Given the description of an element on the screen output the (x, y) to click on. 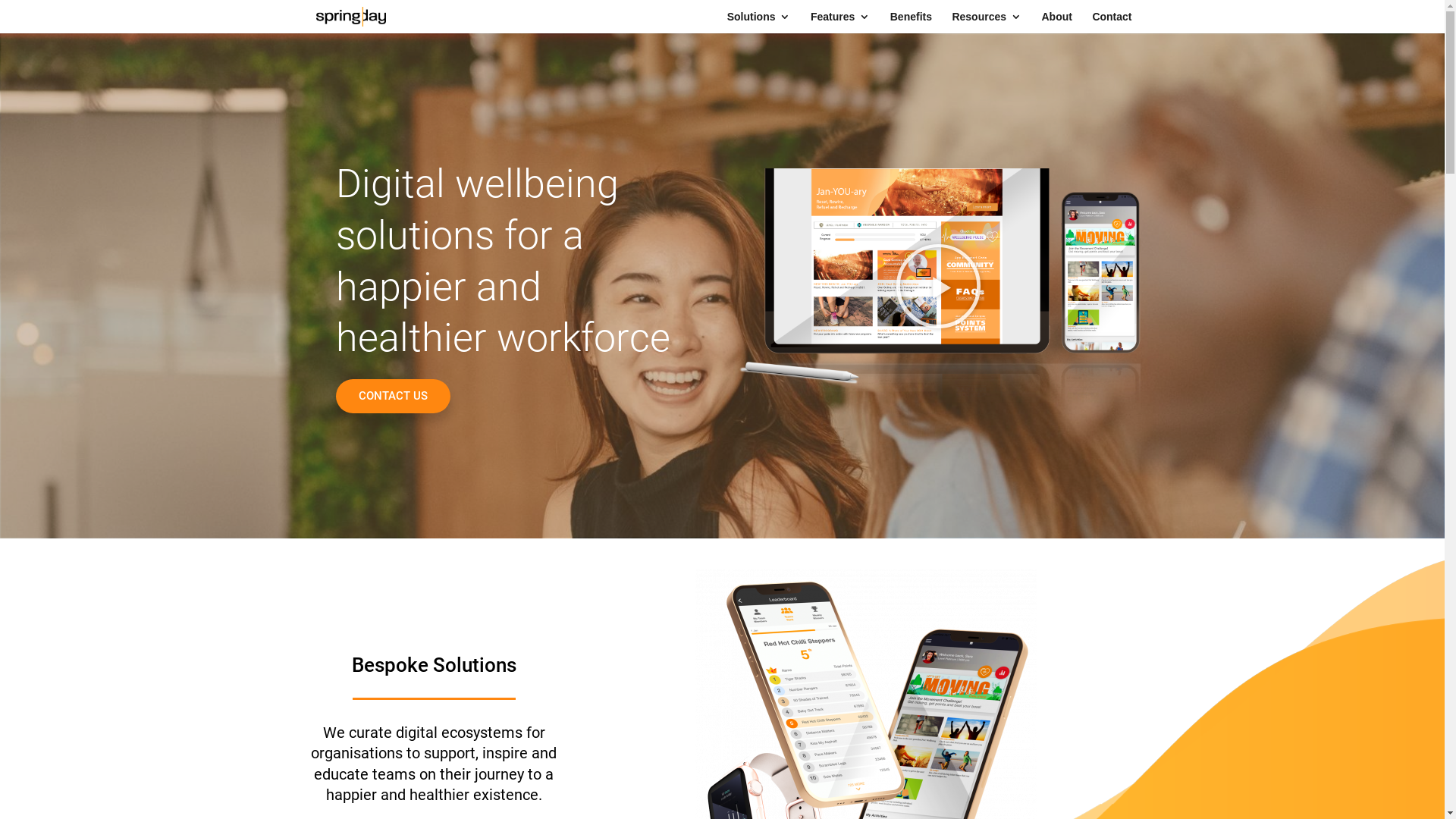
Benefits Element type: text (910, 22)
Contact Element type: text (1111, 22)
About Element type: text (1056, 22)
Resources Element type: text (986, 22)
Solutions Element type: text (758, 22)
CONTACT US Element type: text (392, 396)
Features Element type: text (839, 22)
